Given the description of an element on the screen output the (x, y) to click on. 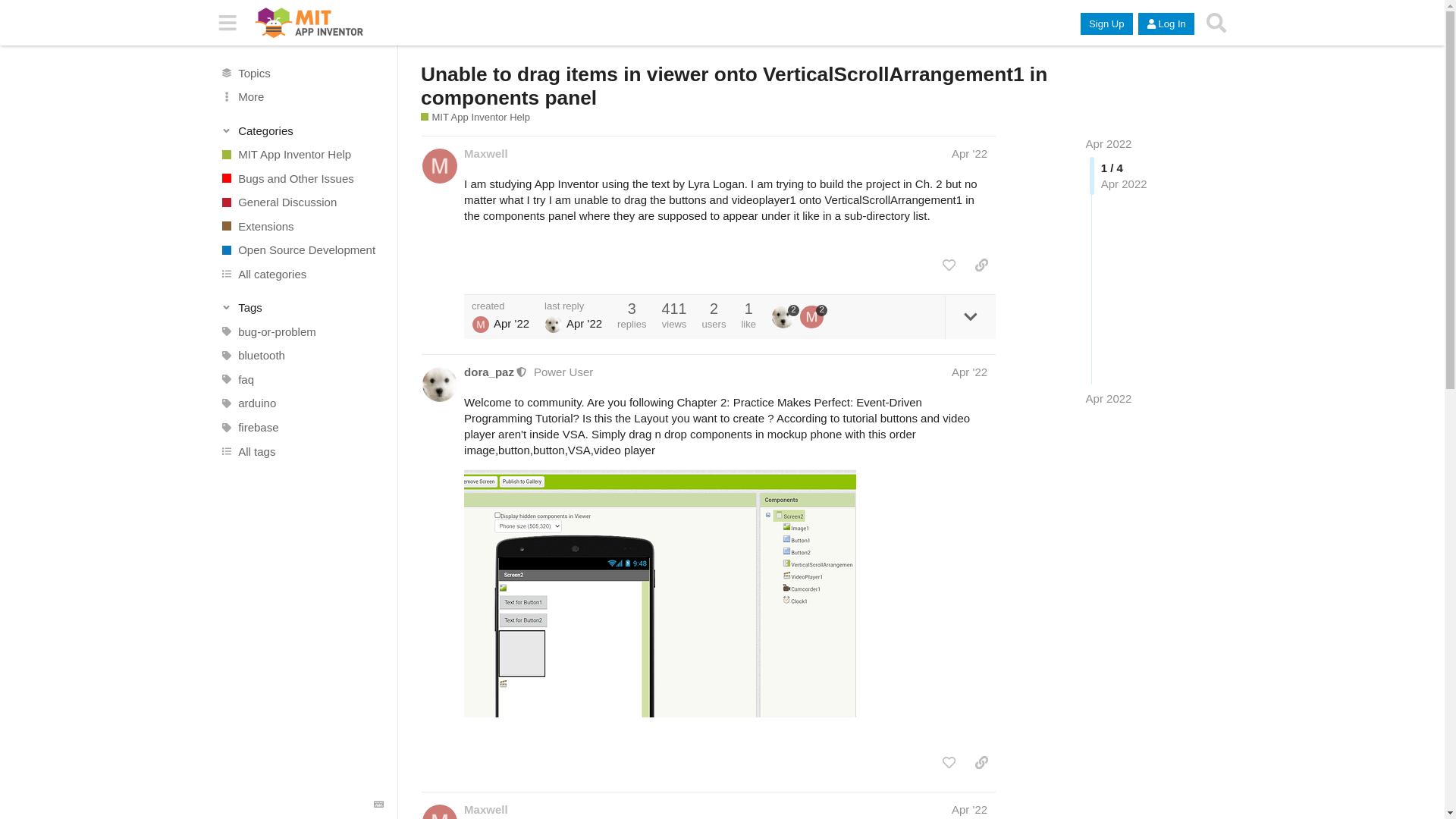
last reply (573, 306)
Search (1215, 22)
MIT App Inventor Help (301, 154)
Report potential issues with App Inventor in this category. (301, 178)
firebase (301, 427)
Apr '22 (969, 153)
Extensions (301, 225)
Apr 2022 (1109, 398)
